Given the description of an element on the screen output the (x, y) to click on. 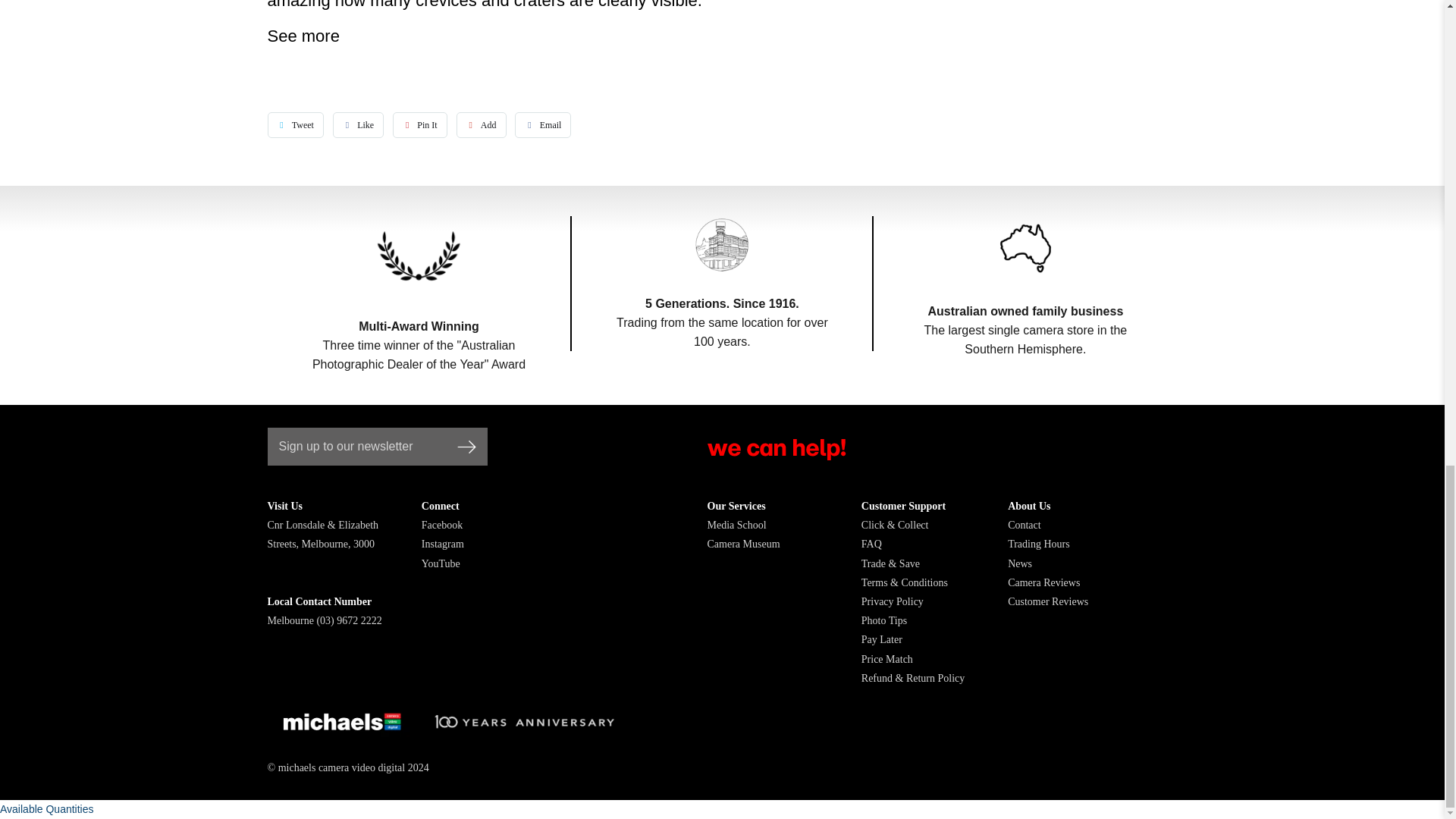
Media School (735, 524)
Camera Museum (742, 543)
Contact (1024, 524)
Photo Tips (884, 620)
Price Match (886, 659)
Tweet (294, 125)
Privacy Policy (892, 601)
Instagram (443, 543)
Pay Later (881, 639)
Share this on Twitter (294, 125)
Like (358, 125)
Share this on Facebook (358, 125)
YouTube (441, 563)
Add (481, 125)
FAQ (871, 543)
